Given the description of an element on the screen output the (x, y) to click on. 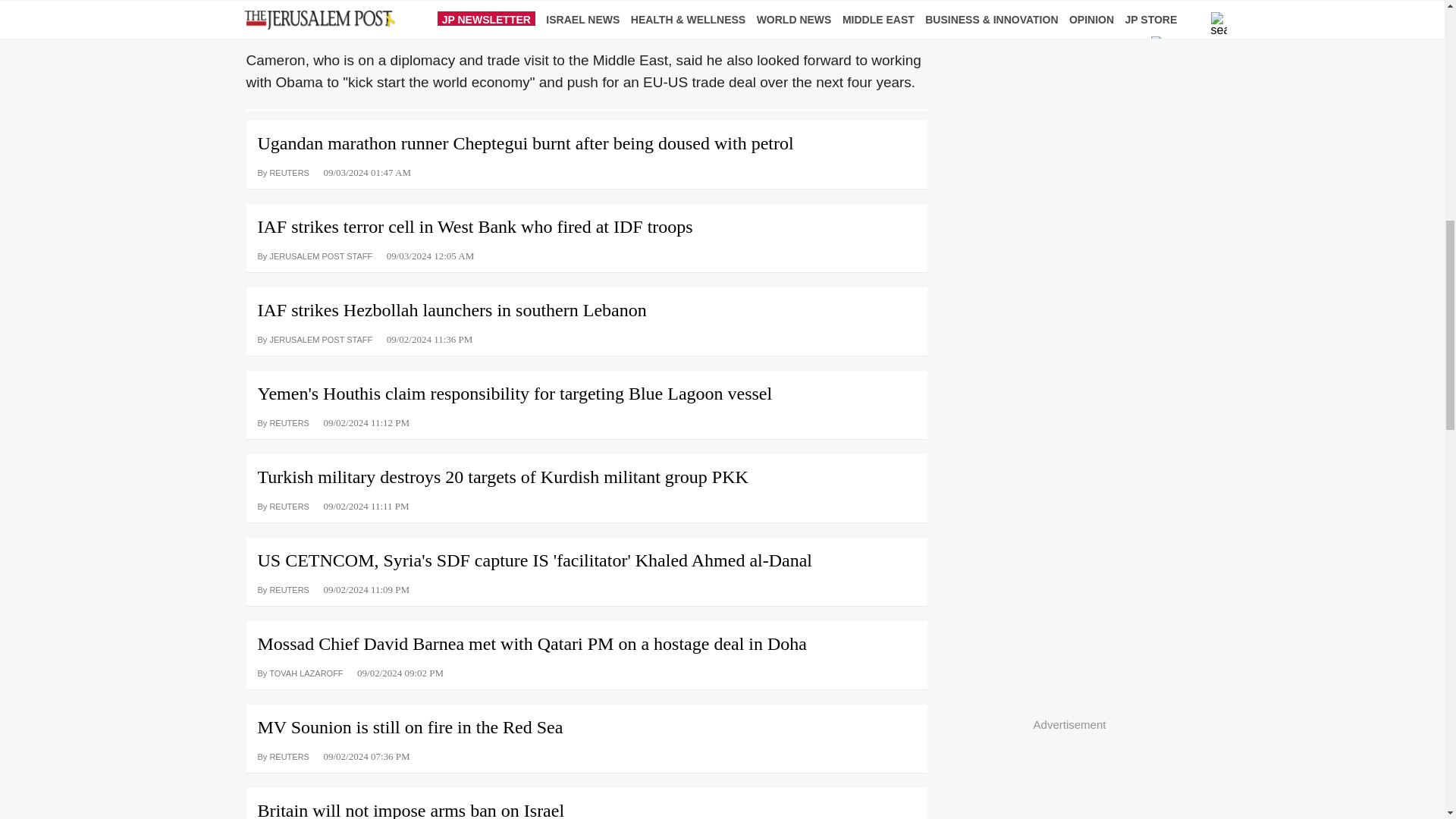
IAF strikes Hezbollah launchers in southern Lebanon (586, 304)
IAF strikes terror cell in West Bank who fired at IDF troops (586, 220)
By JERUSALEM POST STAFF (314, 338)
IAF strikes Hezbollah launchers in southern Lebanon (586, 304)
IAF strikes terror cell in West Bank who fired at IDF troops (586, 220)
